Given the description of an element on the screen output the (x, y) to click on. 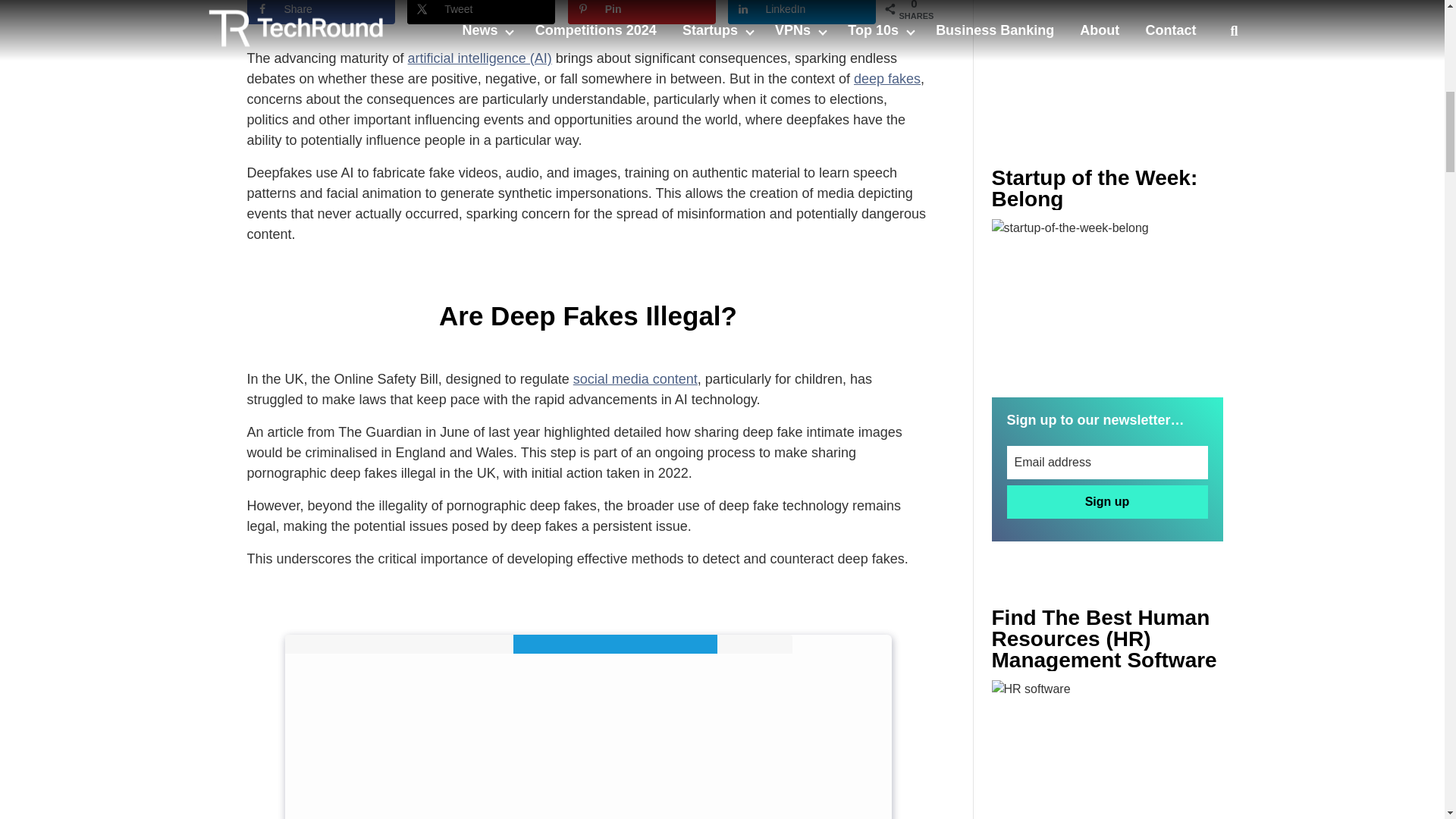
Startup of the Week: Neon Link (1107, 296)
Share on X (480, 12)
Share on LinkedIn (802, 12)
Share on Facebook (320, 12)
Enter The BAME Top 50 Entrepreneurs - Deadline 10th Nov 2021 (1107, 749)
Save to Pinterest (641, 12)
Sign up (1107, 501)
MVF GLOBAL WEBFORM EMBED (588, 726)
